Given the description of an element on the screen output the (x, y) to click on. 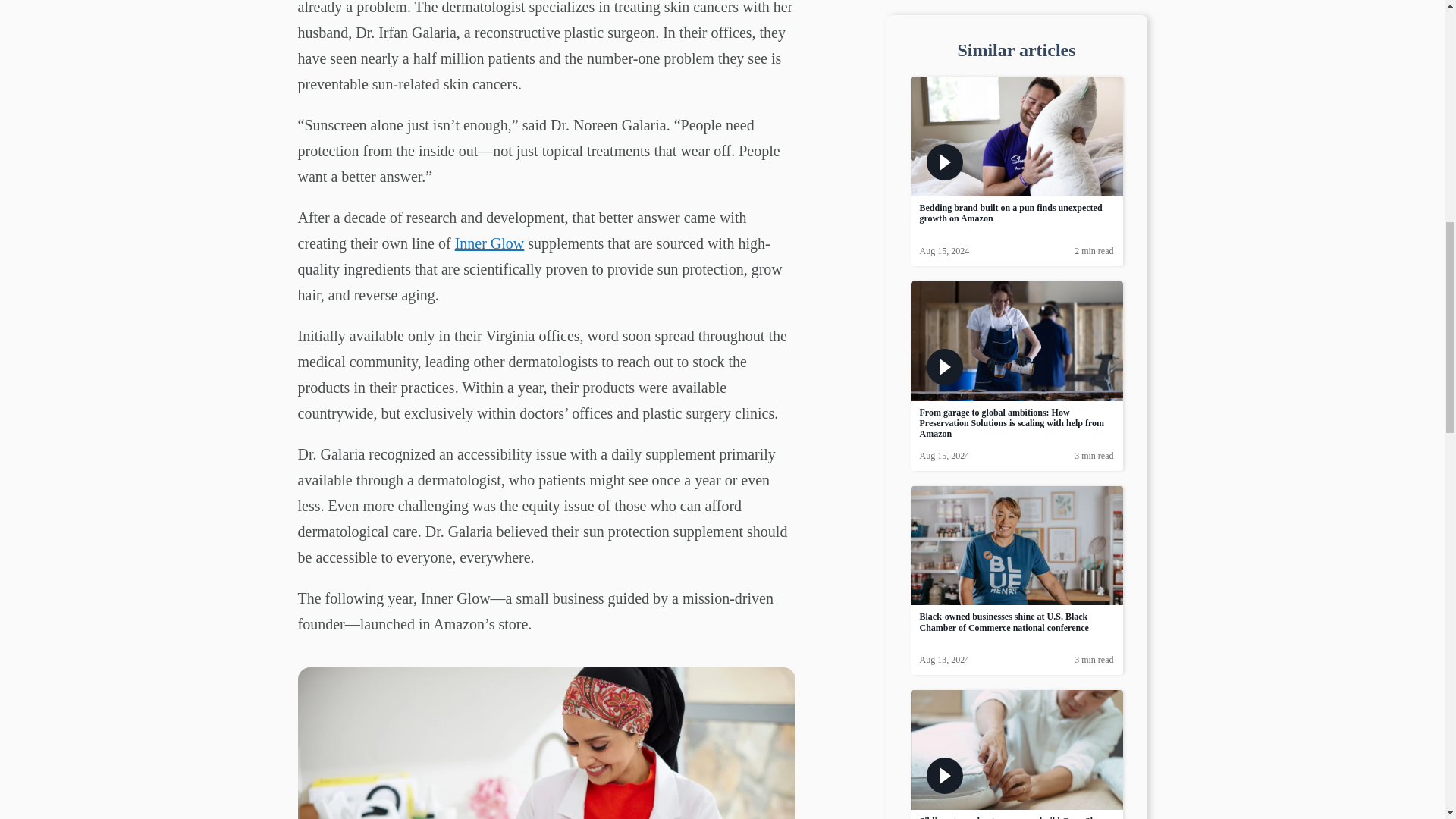
Inner Glow (489, 243)
